Given the description of an element on the screen output the (x, y) to click on. 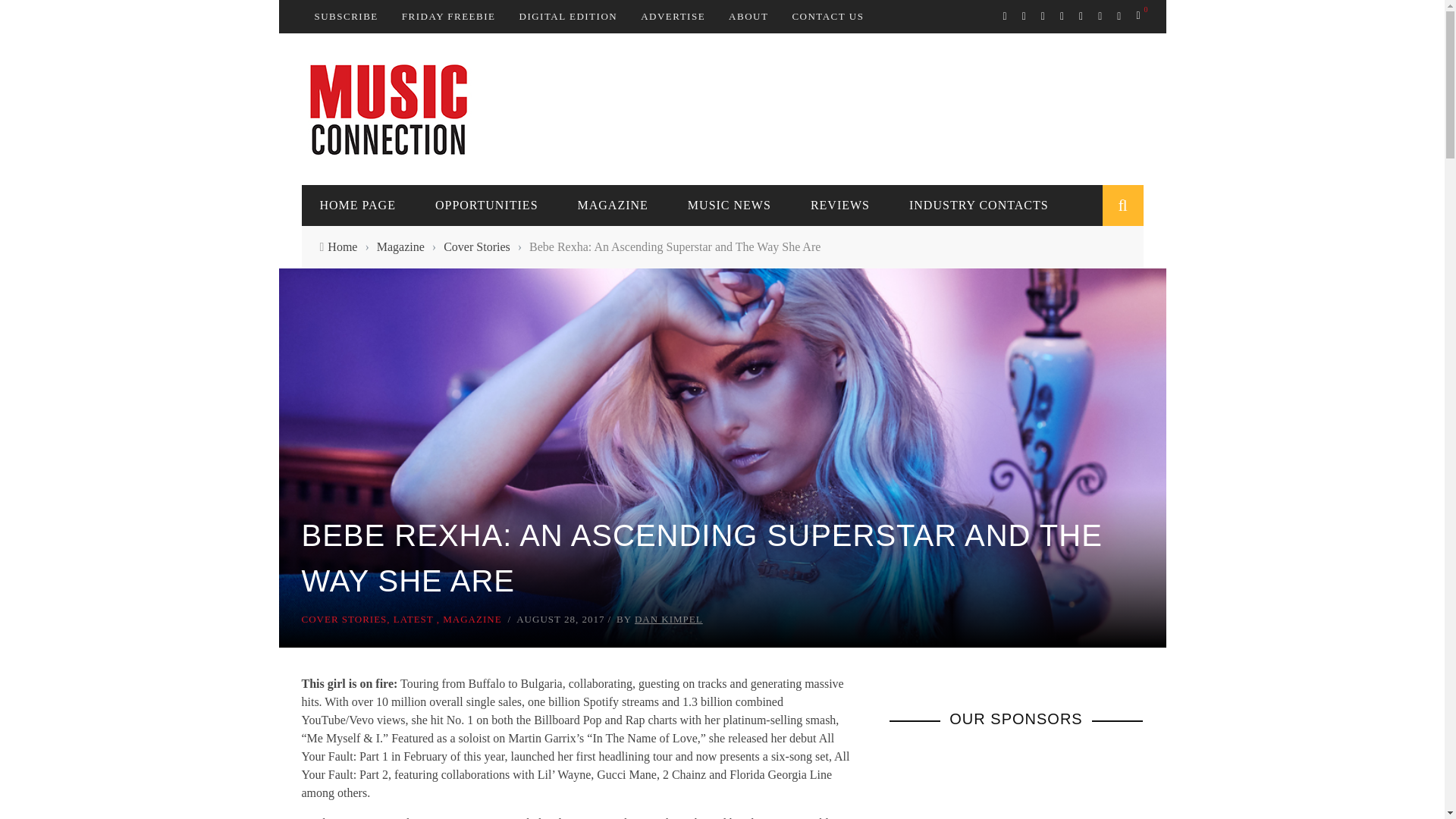
3rd party ad content (1002, 783)
3rd party ad content (866, 108)
